Given the description of an element on the screen output the (x, y) to click on. 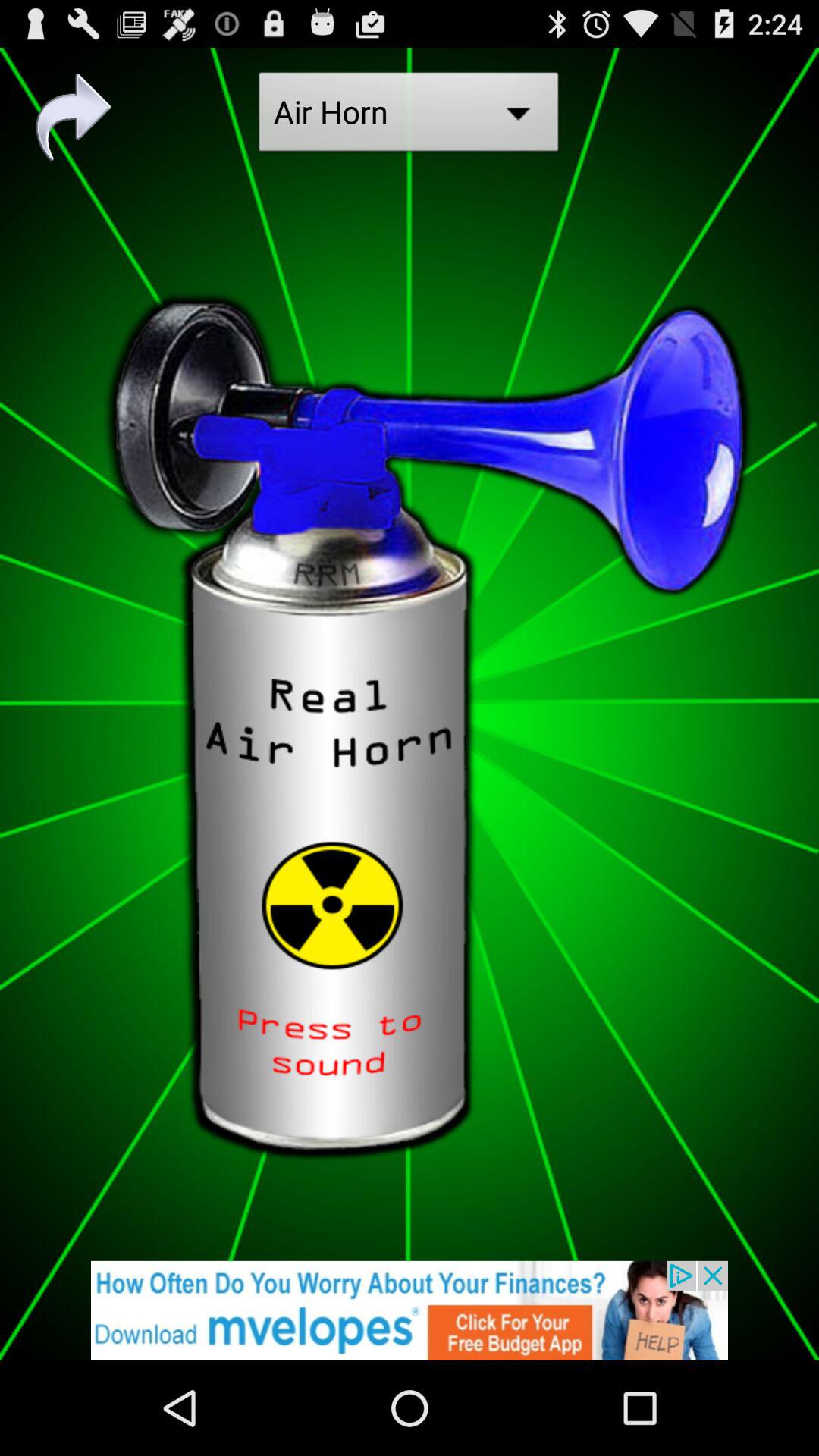
go to next (73, 117)
